Given the description of an element on the screen output the (x, y) to click on. 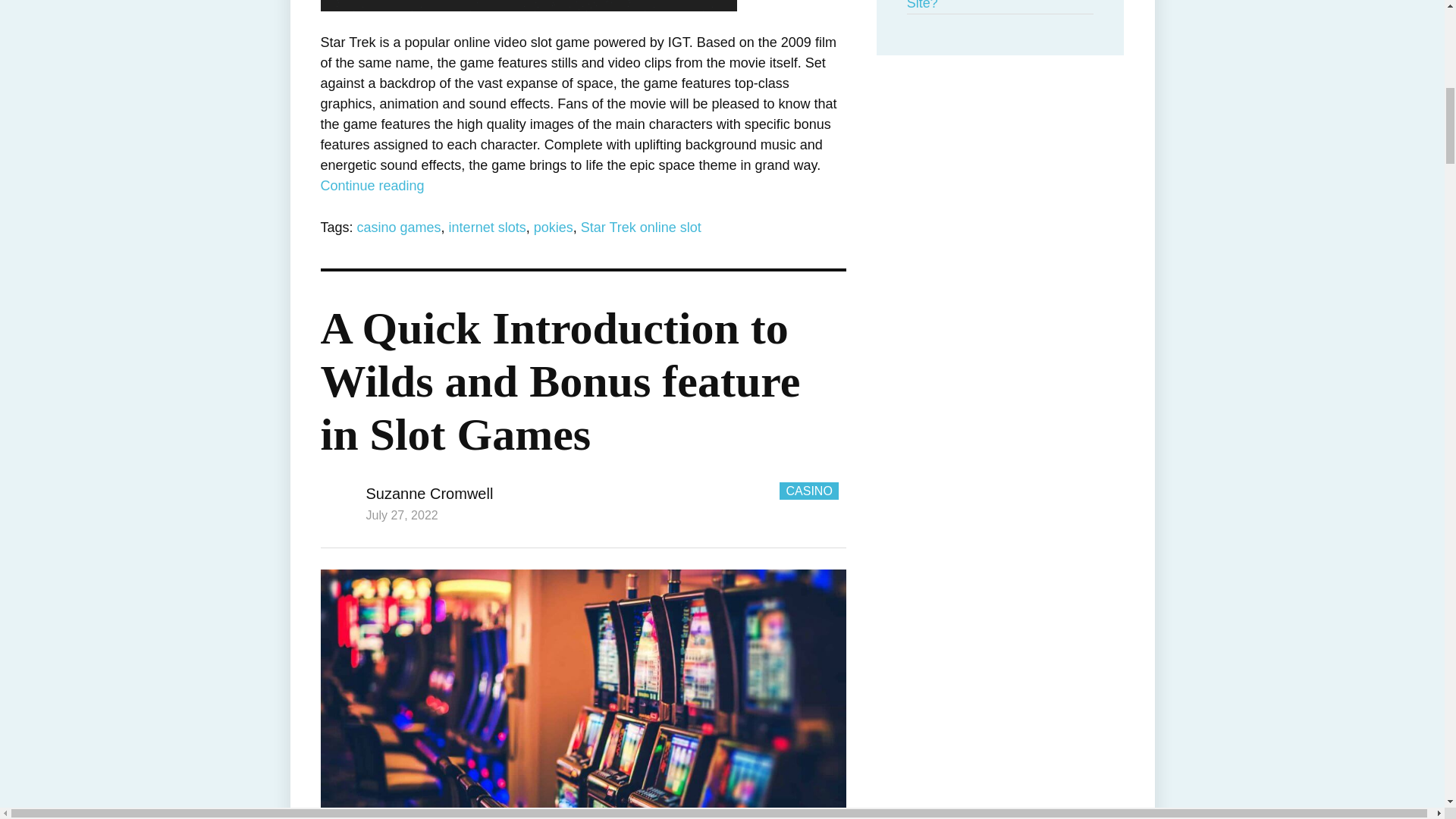
casino games (398, 227)
July 27, 2022 (401, 514)
Suzanne Cromwell (429, 493)
CASINO (808, 490)
pokies (553, 227)
internet slots (486, 227)
Star Trek online slot (640, 227)
